Given the description of an element on the screen output the (x, y) to click on. 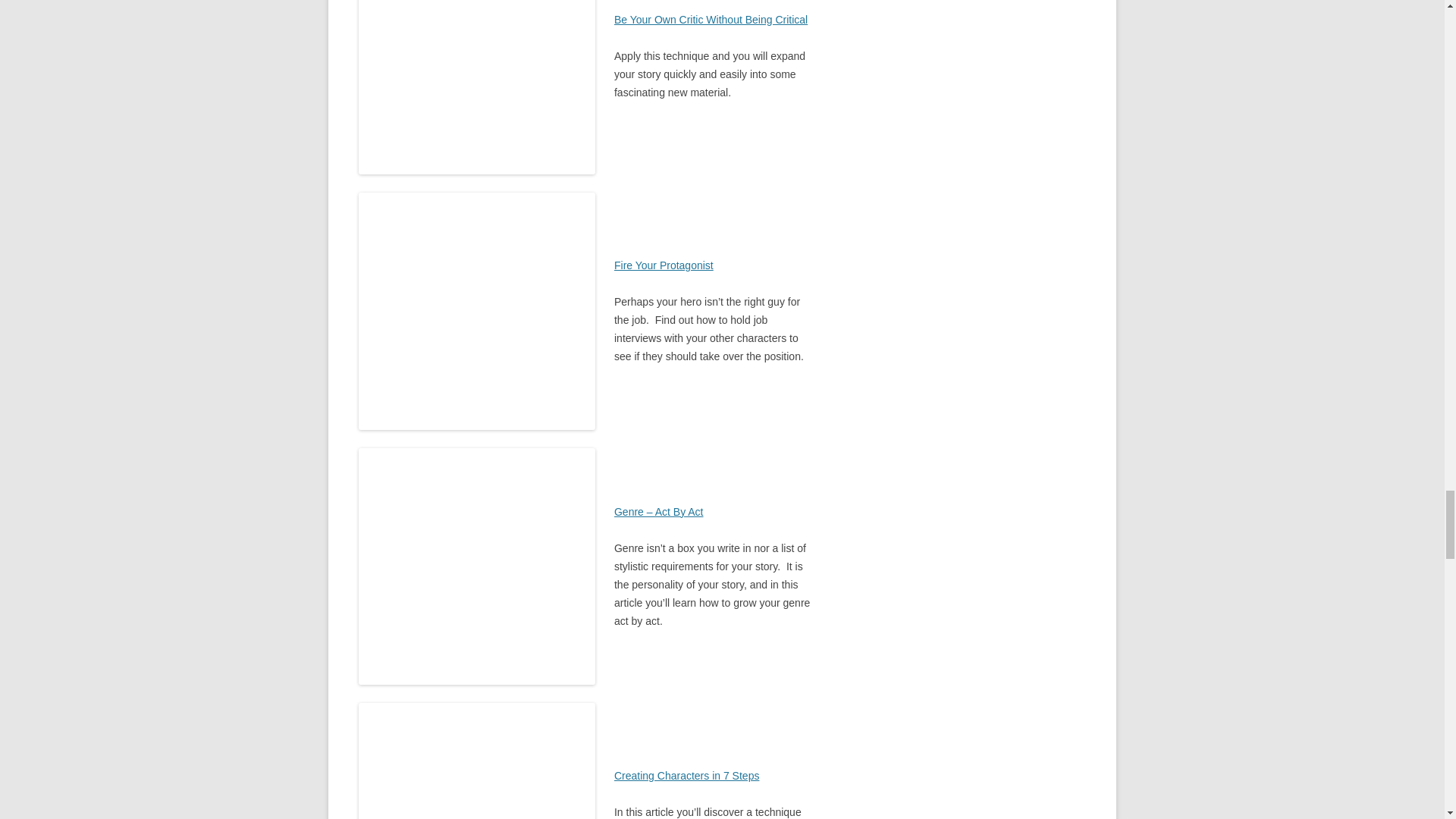
Fire Your Protagonist (663, 265)
Be Your Own Critic Without Being Critical (711, 19)
Creating Characters in 7 Steps (686, 775)
